Given the description of an element on the screen output the (x, y) to click on. 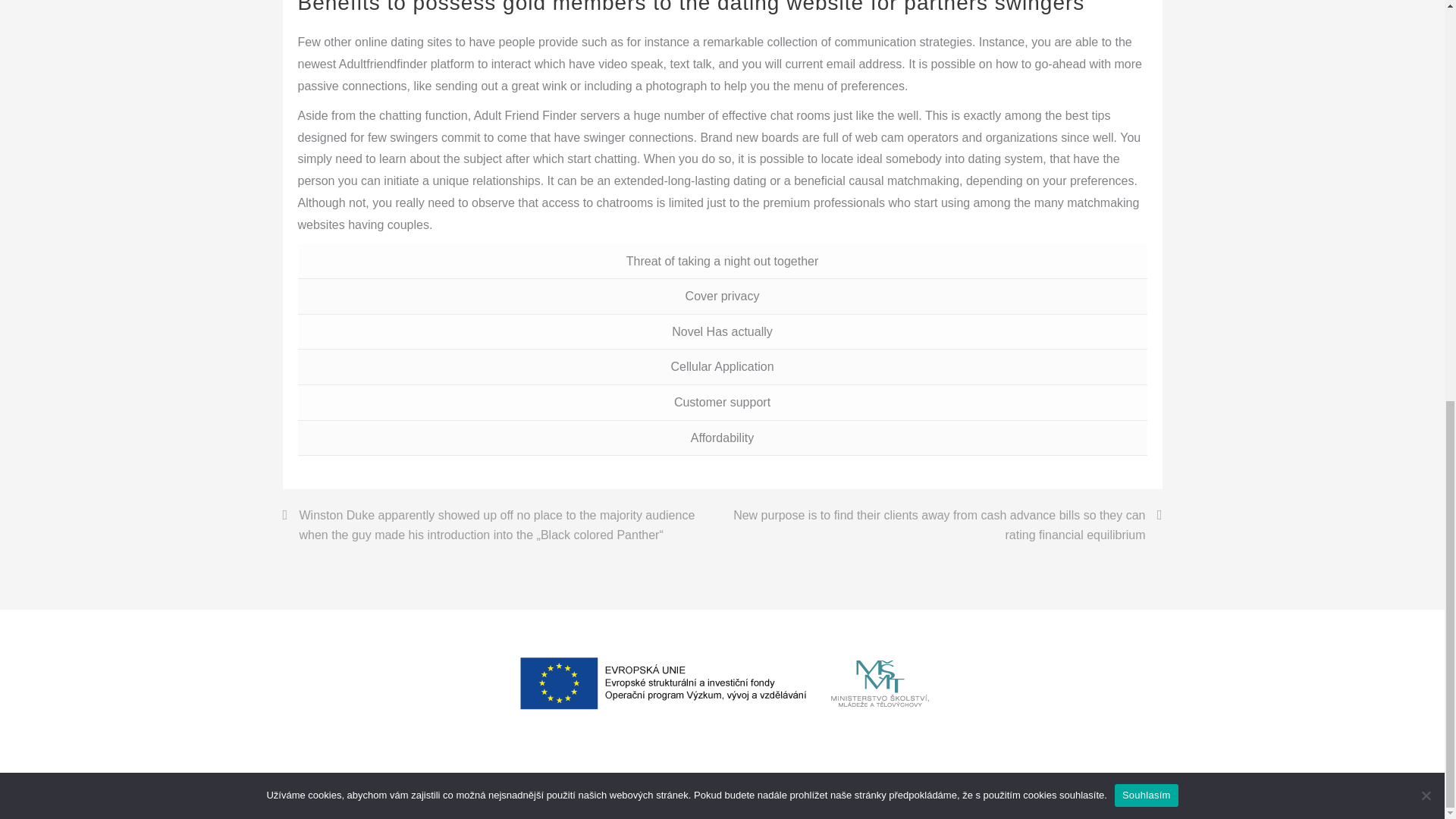
Ne (1425, 10)
